Given the description of an element on the screen output the (x, y) to click on. 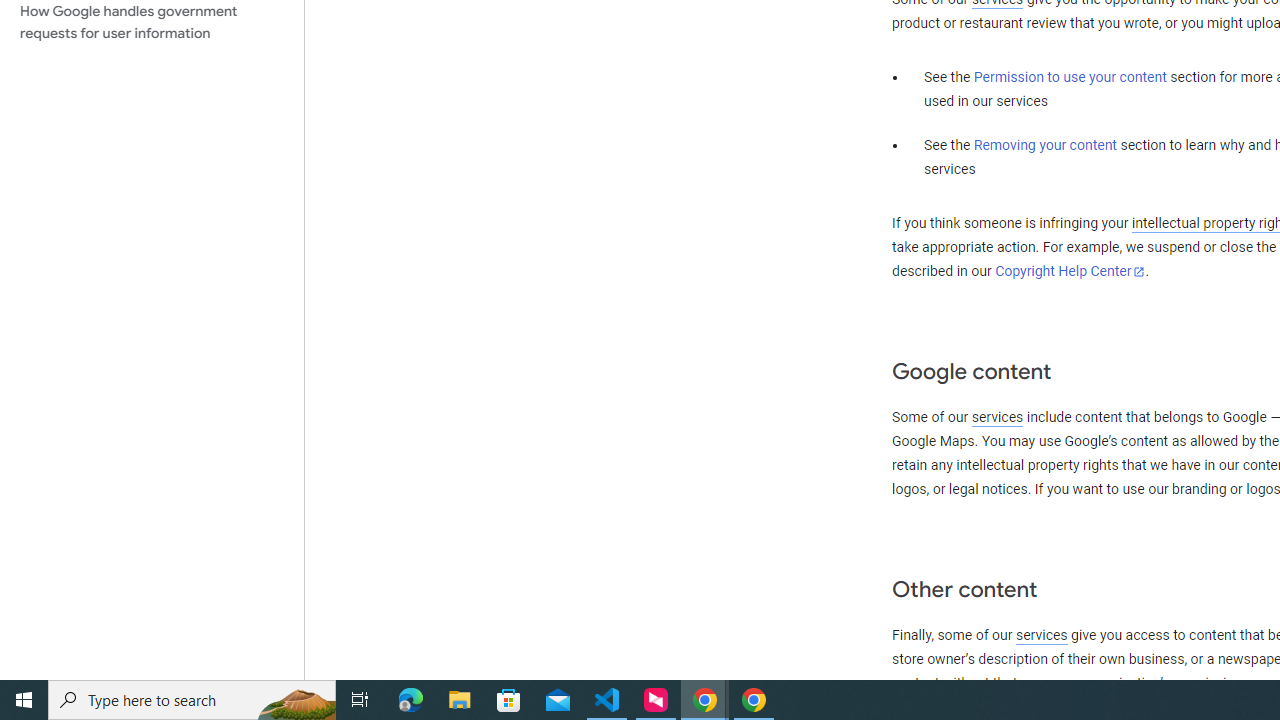
Removing your content (1044, 145)
Permission to use your content (1069, 78)
Copyright Help Center (1069, 271)
services (1041, 635)
